Given the description of an element on the screen output the (x, y) to click on. 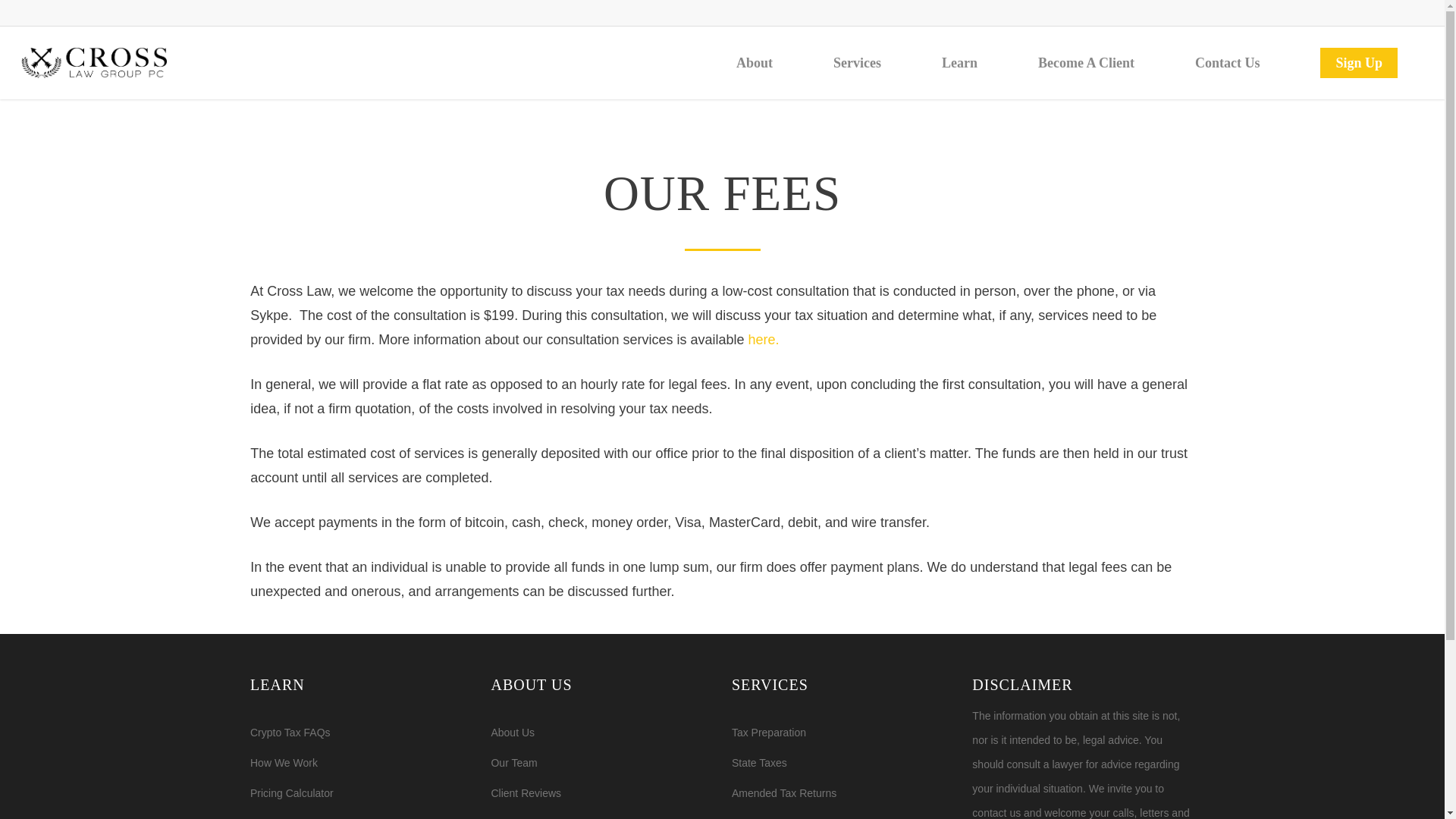
State Taxes (842, 762)
Become A Client (1086, 63)
Sign Up (1358, 63)
Services (856, 63)
here. (763, 339)
Contact Us (601, 815)
Contact Us (1227, 63)
Business Taxes (842, 815)
About (754, 63)
Pricing Calculator (360, 793)
Crypto Tax FAQs (360, 732)
About Us (601, 732)
Fee Schedule (360, 815)
Tax Preparation (842, 732)
How We Work (360, 762)
